Given the description of an element on the screen output the (x, y) to click on. 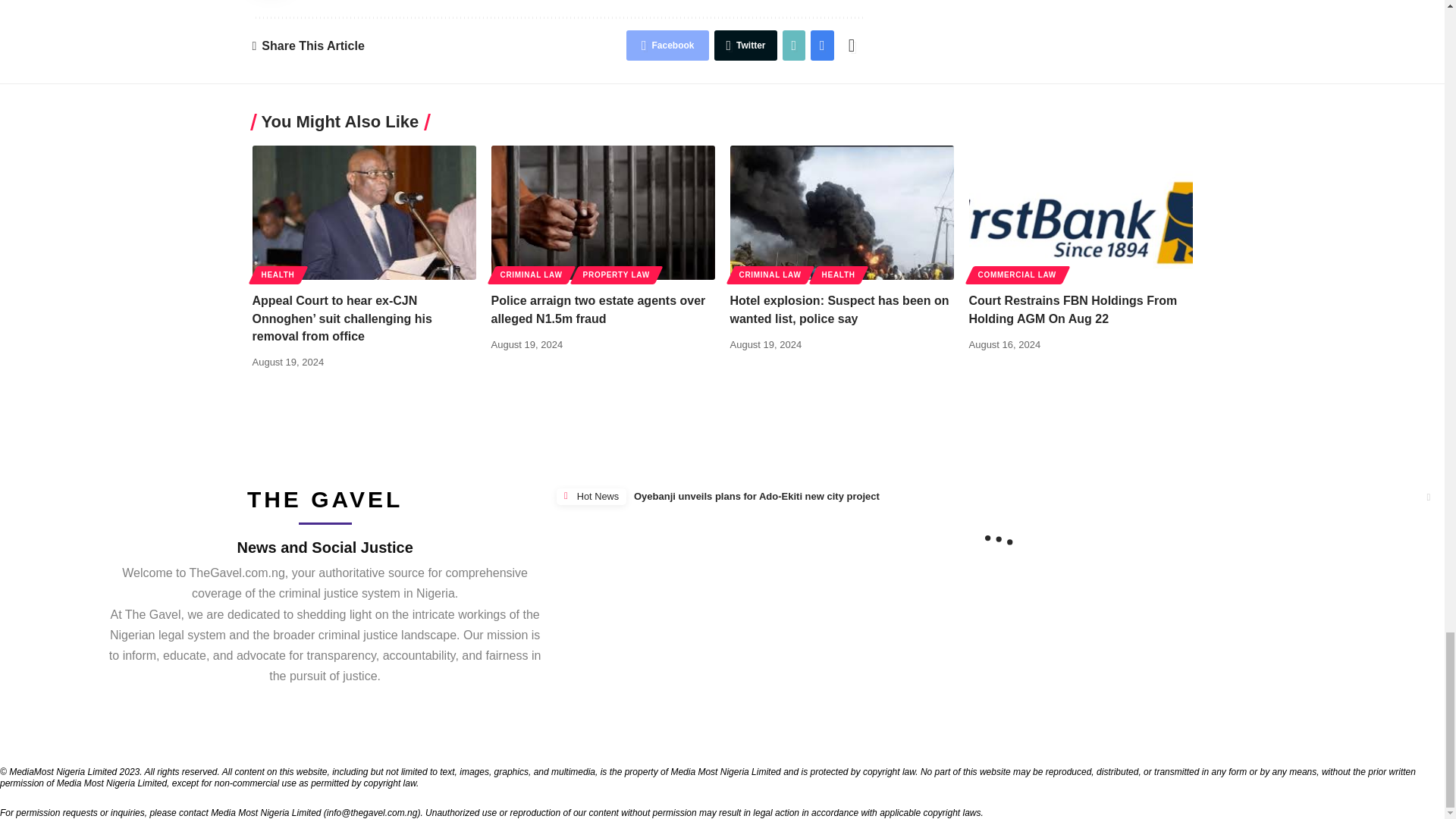
Police arraign two estate agents over alleged N1.5m fraud (603, 212)
Court Restrains FBN Holdings From Holding AGM On Aug 22 (1080, 212)
Facebook (668, 45)
Twitter (745, 45)
Hotel explosion: Suspect has been on wanted list, police say (841, 212)
